Given the description of an element on the screen output the (x, y) to click on. 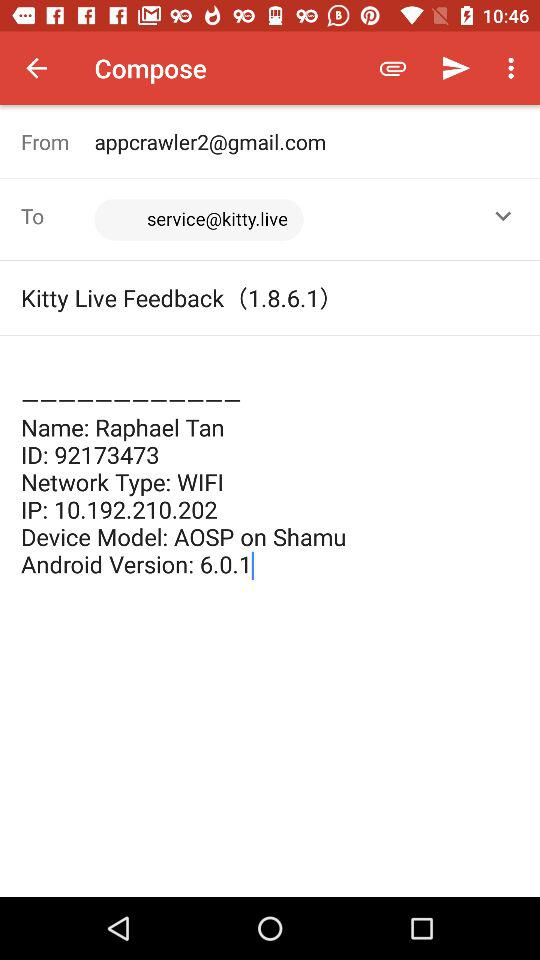
click the icon to the right of compose (392, 67)
